Given the description of an element on the screen output the (x, y) to click on. 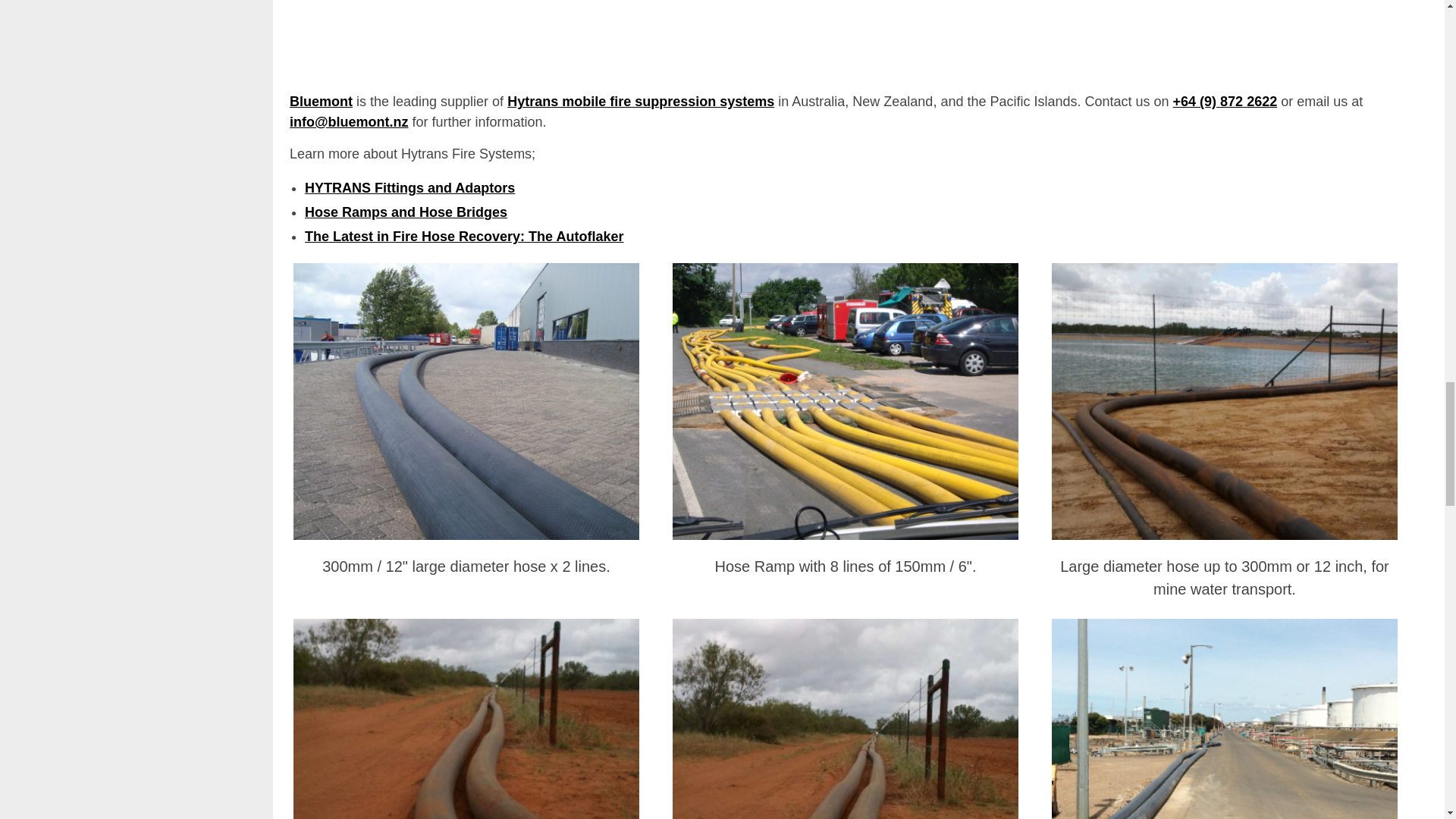
Bluemont (320, 101)
HYTRANS Fittings and Adaptors (409, 187)
Hose Ramps and Hose Bridges (405, 212)
Hytrans mobile fire suppression systems (640, 101)
The Latest in Fire Hose Recovery: The Autoflaker (463, 236)
